Given the description of an element on the screen output the (x, y) to click on. 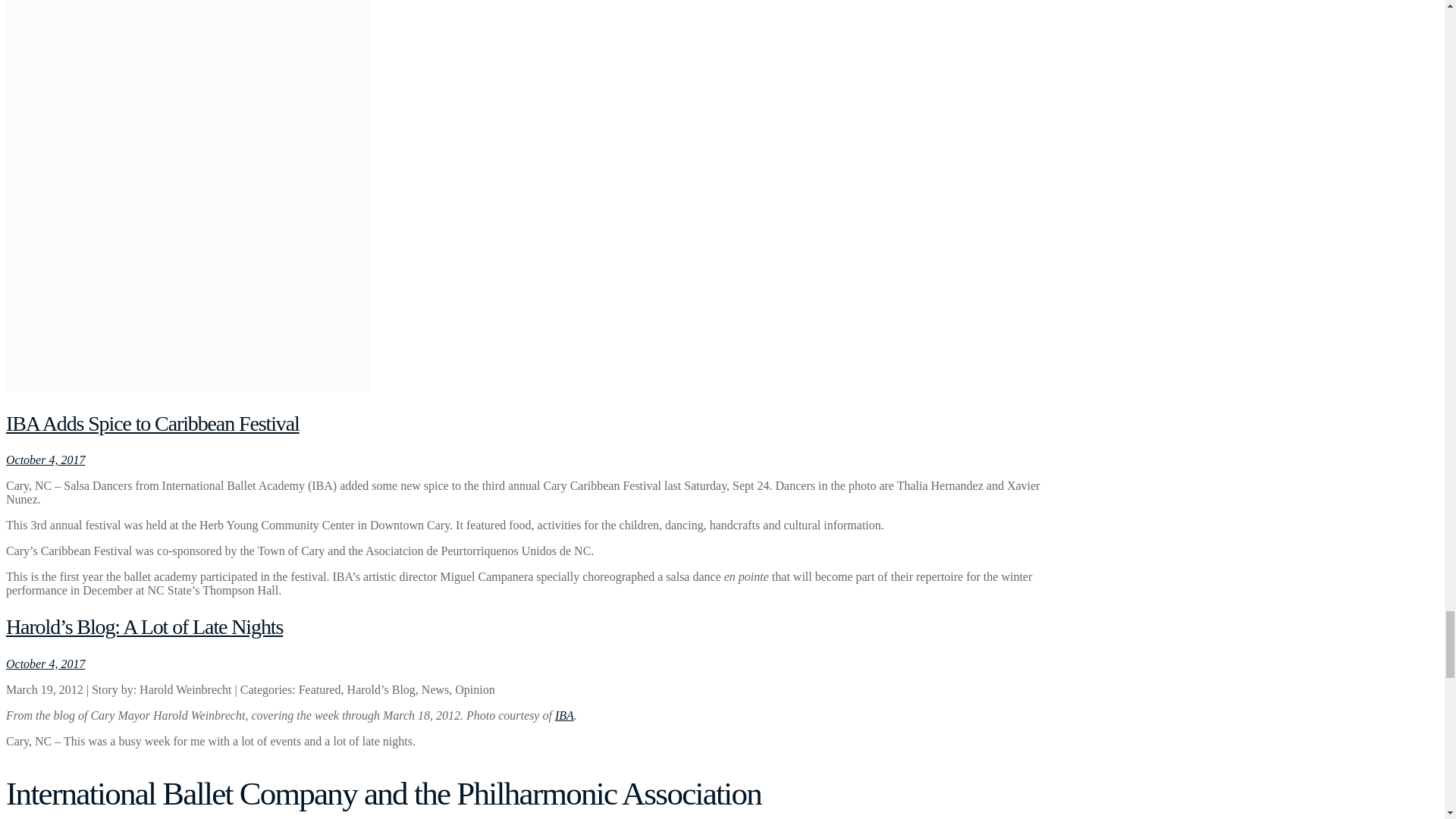
IBA Adds Spice to Caribbean Festival (152, 422)
